Given the description of an element on the screen output the (x, y) to click on. 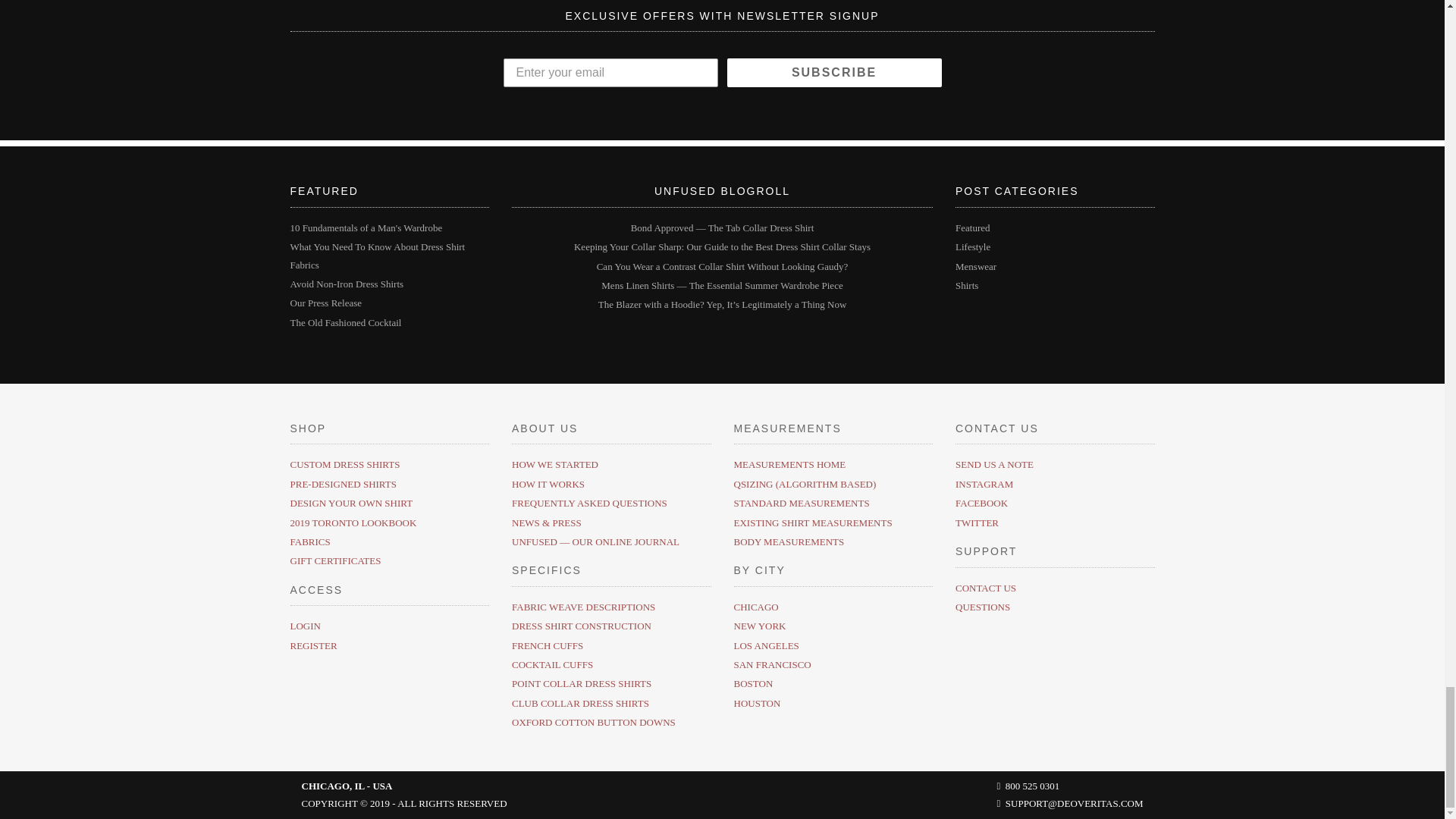
What You Need To Know About Dress Shirt Fabrics (376, 255)
Avoid Non-Iron Dress Shirts (346, 283)
FABRICS (309, 541)
Avoid Non-Iron Dress Shirts (346, 283)
Can You Wear a Contrast Collar Shirt Without Looking Gaudy? (722, 266)
Lifestyle (972, 246)
10 Fundamentals of a Man's Wardrobe (365, 227)
DESIGN YOUR OWN SHIRT (350, 502)
GIFT CERTIFICATES (334, 560)
SUBSCRIBE (833, 72)
The Old Fashioned Cocktail (345, 322)
CUSTOM DRESS SHIRTS (343, 464)
Our Press Release (325, 302)
Featured (972, 227)
